Given the description of an element on the screen output the (x, y) to click on. 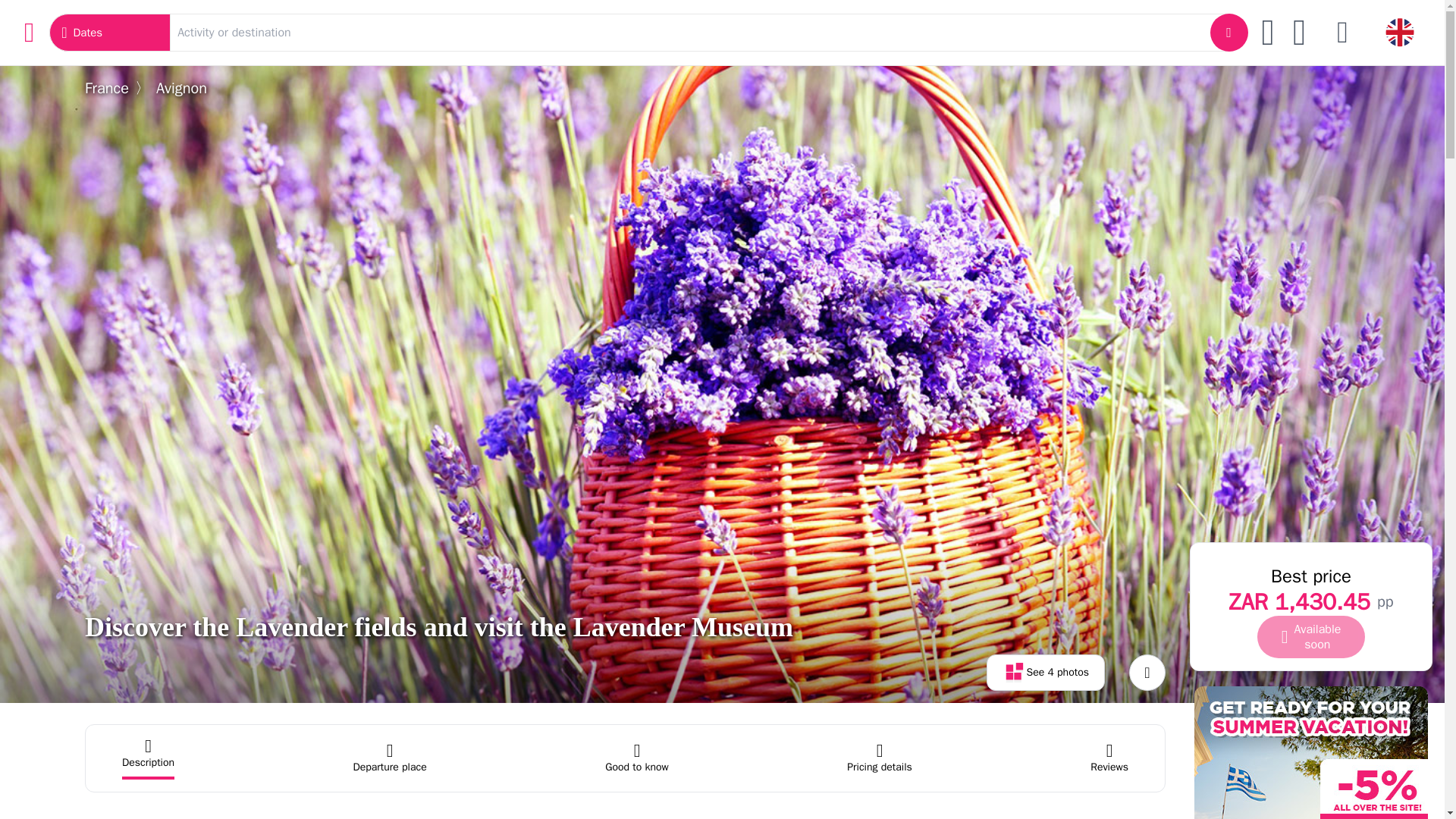
See 4 photos (1046, 672)
Departure place (389, 758)
Good to know (636, 758)
Departure place (389, 758)
Avignon (180, 87)
Description (148, 758)
Pricing details (879, 758)
Description (148, 758)
France (106, 87)
Good to know (636, 758)
Reviews (1109, 758)
Reviews (1109, 758)
Available soon (1311, 636)
